Given the description of an element on the screen output the (x, y) to click on. 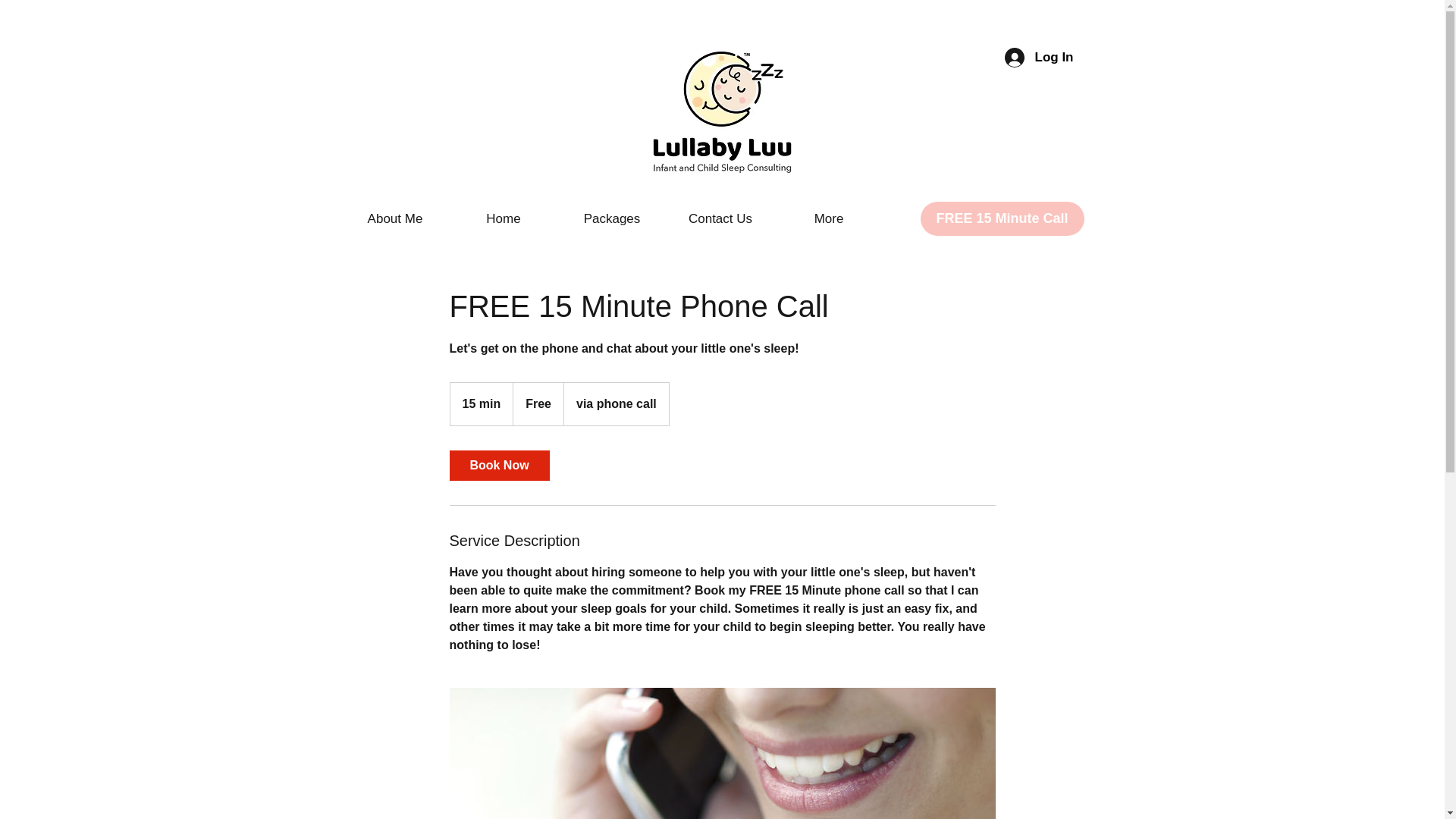
Home (502, 219)
About Me (394, 219)
Log In (1039, 56)
FREE 15 Minute Call (1002, 218)
Book Now (498, 465)
Contact Us (719, 219)
Packages (611, 219)
